Given the description of an element on the screen output the (x, y) to click on. 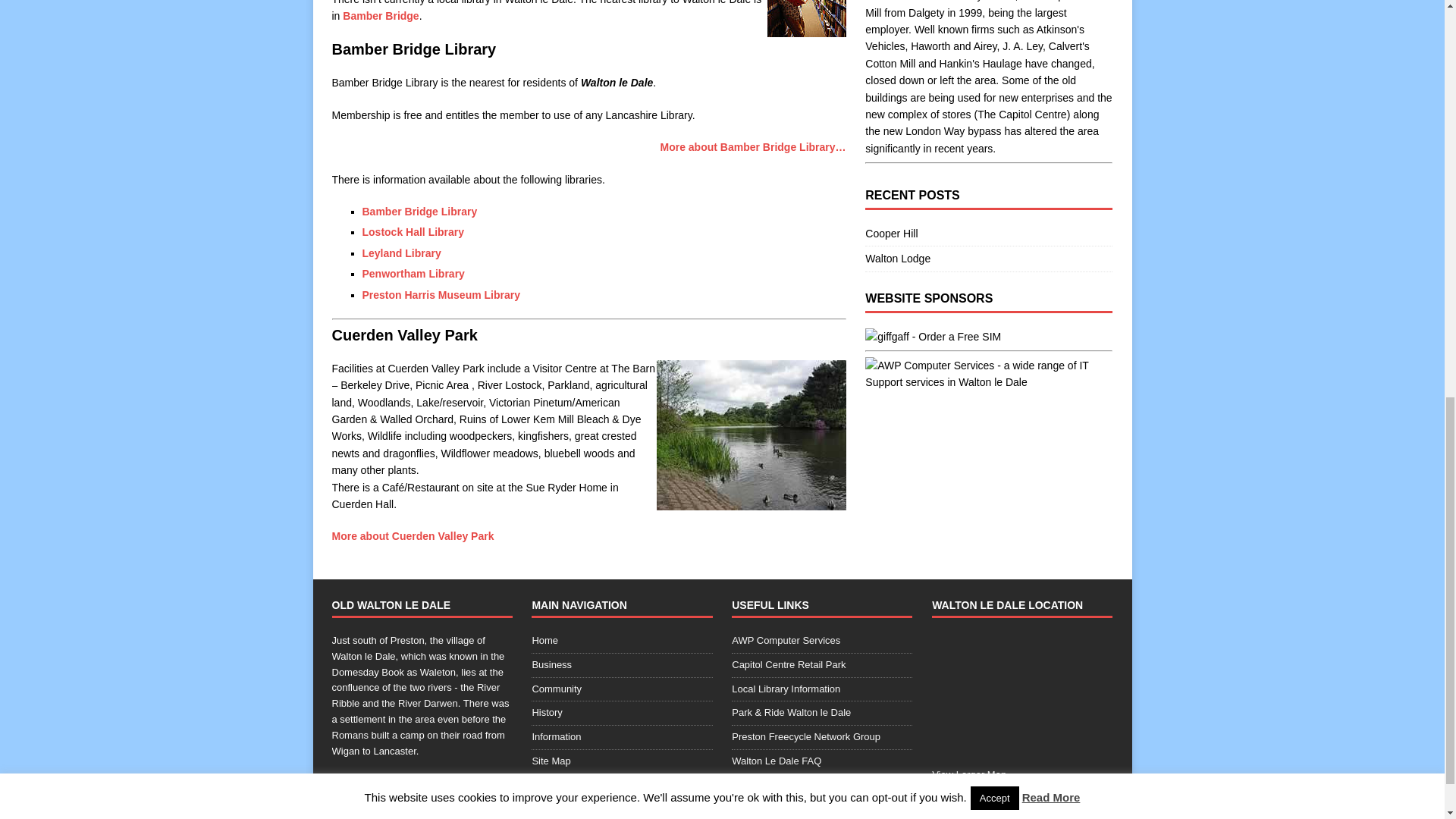
Local Library Information (822, 689)
Free SIM from giffgaff (932, 336)
Bamber Bridge Library - Closest to Walton le Dale (380, 15)
Roman Walton le Dale (349, 735)
Personal accounts of the Lancashire area (621, 785)
The Capitol Centre Retail Park (1021, 114)
